Given the description of an element on the screen output the (x, y) to click on. 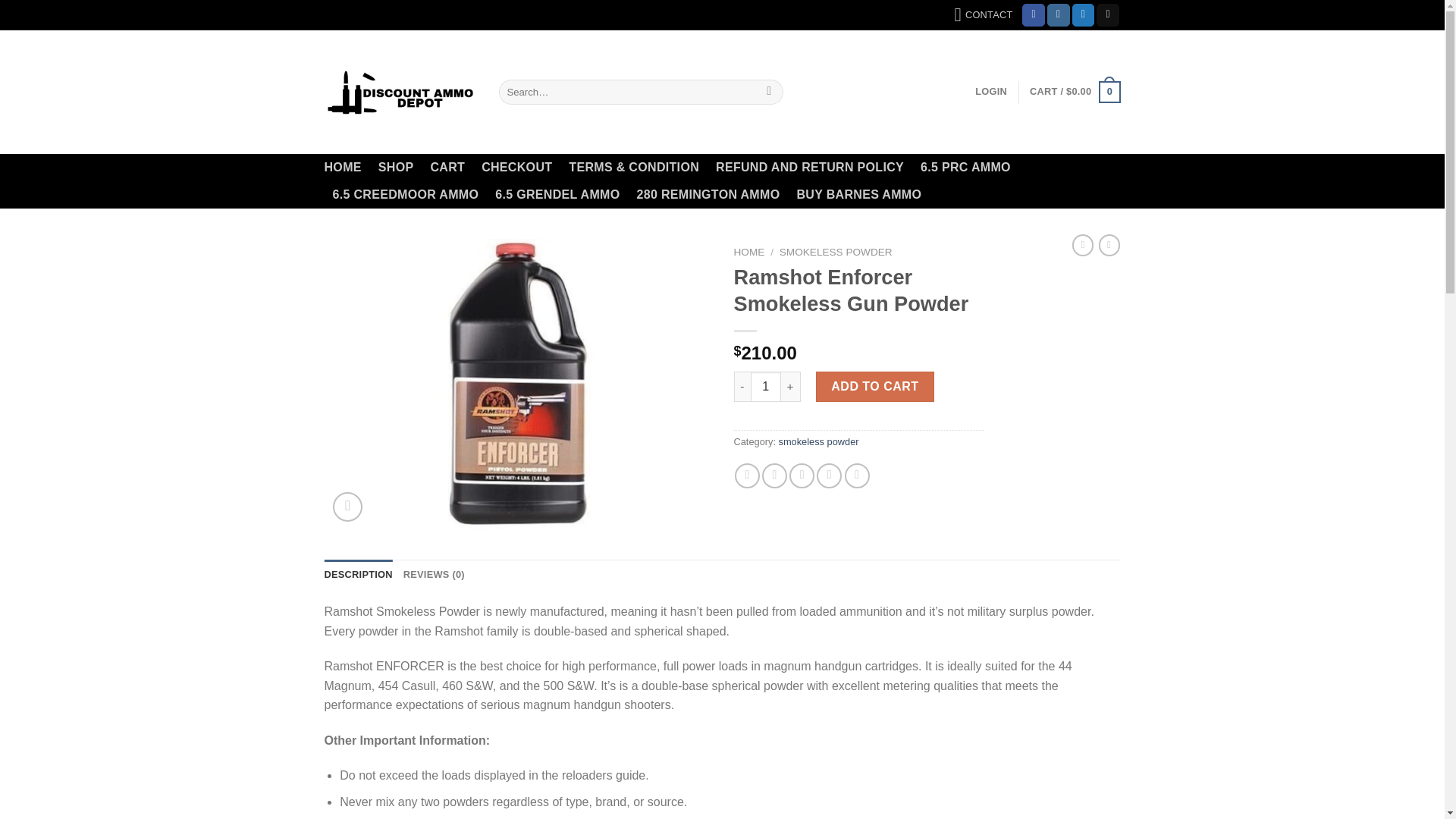
280 REMINGTON AMMO (708, 194)
ADD TO CART (874, 386)
smokeless powder (818, 441)
HOME (749, 251)
Follow on Instagram (1058, 15)
BUY BARNES AMMO (858, 194)
1 (765, 386)
HOME (342, 166)
666956.jpg (517, 384)
CHECKOUT (516, 166)
CONTACT (982, 15)
Follow on Twitter (1082, 15)
Cart (1074, 92)
Send us an email (1107, 15)
Zoom (347, 506)
